Given the description of an element on the screen output the (x, y) to click on. 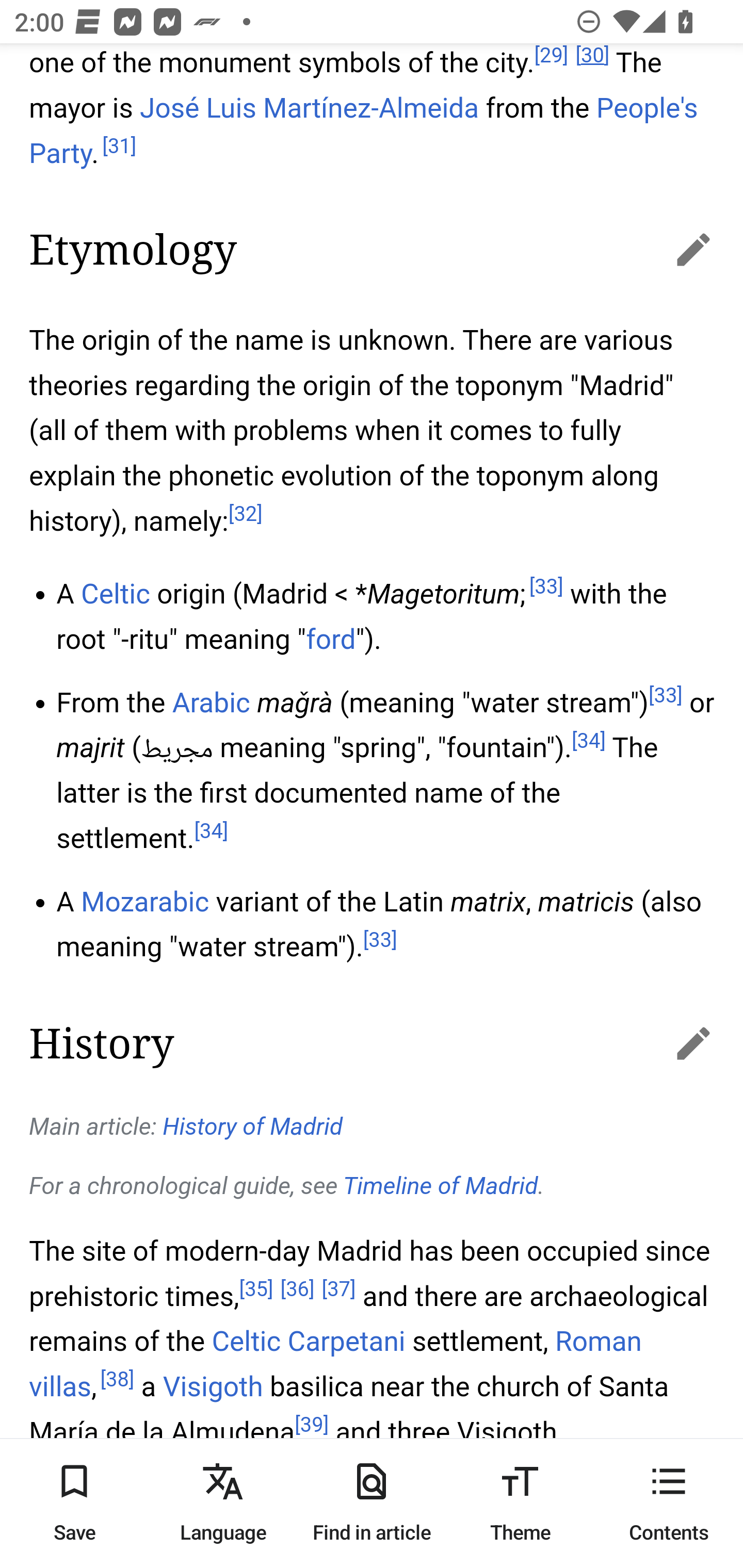
[] [ 29 ] (550, 56)
[] [ 30 ] (592, 56)
People's Party (363, 131)
José Luis Martínez-Almeida (309, 109)
[] [ 31 ] (119, 146)
Edit section (672, 248)
[] [ 32 ] (245, 514)
[] [ 33 ] (545, 586)
Celtic (115, 594)
ford (330, 639)
[] [ 33 ] (665, 695)
Arabic (211, 702)
[] [ 34 ] (588, 740)
[] [ 34 ] (210, 832)
Mozarabic (145, 901)
[] [ 33 ] (379, 940)
Edit section (672, 1042)
History of Madrid (253, 1127)
Timeline of Madrid (440, 1186)
[] [ 35 ] (256, 1289)
[] [ 36 ] (297, 1289)
[] [ 37 ] (339, 1289)
Roman villas (335, 1364)
Celtic (246, 1341)
Carpetani (346, 1341)
[] [ 38 ] (116, 1379)
Visigoth (212, 1387)
[] [ 39 ] (311, 1424)
Save (74, 1502)
Language (222, 1502)
Find in article (371, 1502)
Theme (519, 1502)
Contents (668, 1502)
